Given the description of an element on the screen output the (x, y) to click on. 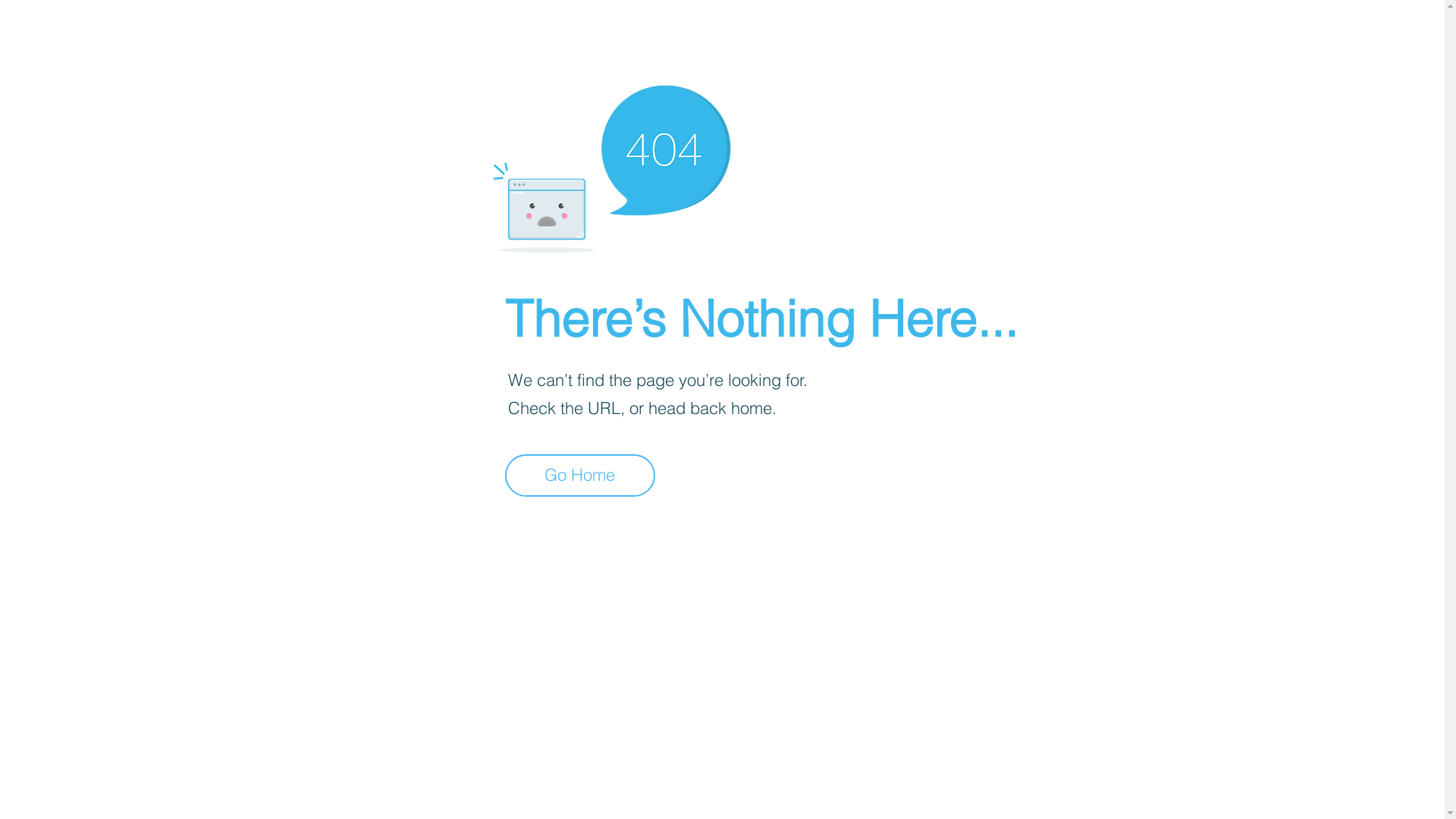
404-icon_2.png Element type: hover (610, 164)
Go Home Element type: text (580, 475)
